Given the description of an element on the screen output the (x, y) to click on. 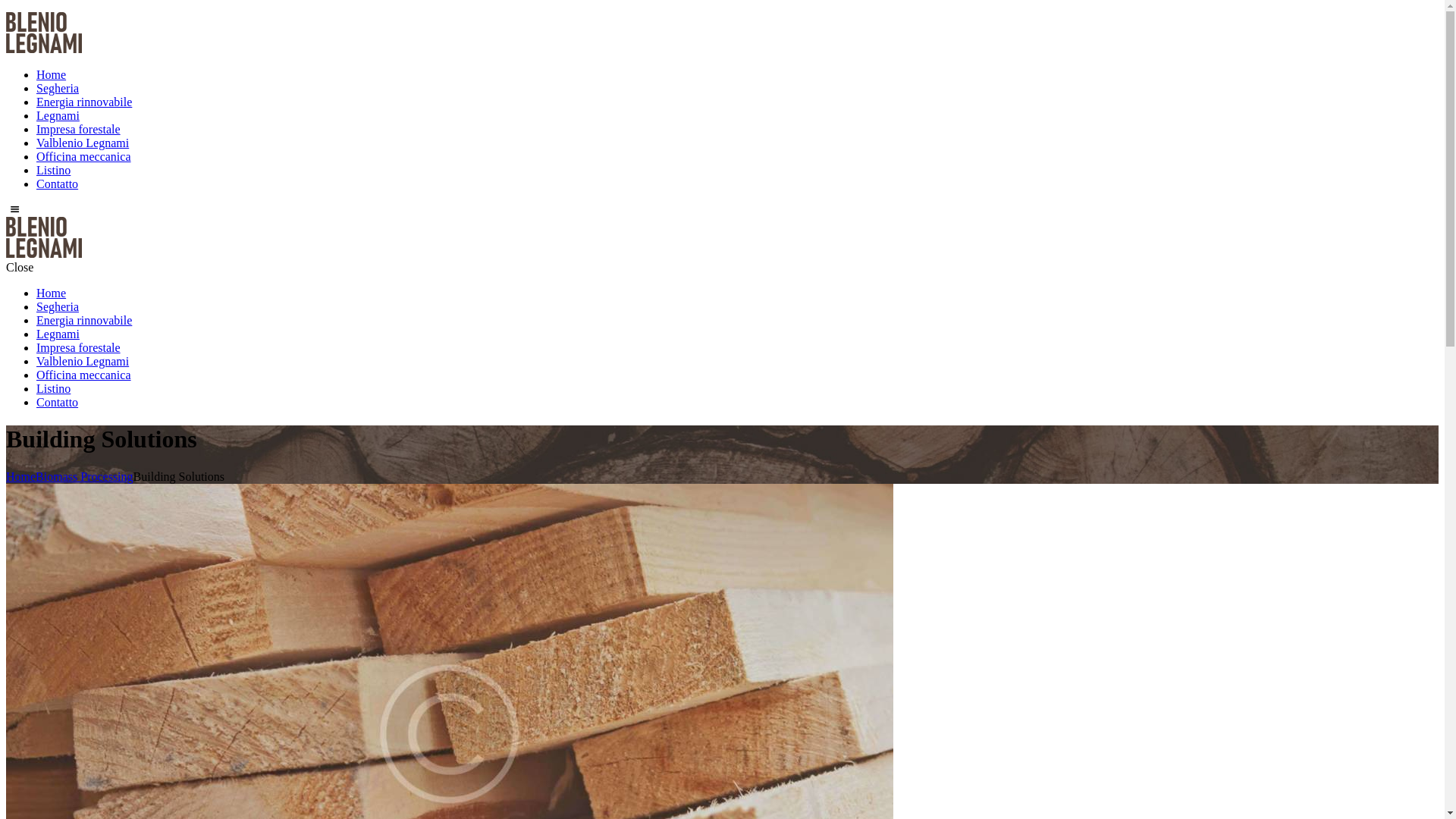
Energia rinnovabile Element type: text (83, 101)
Home Element type: text (50, 74)
Contatto Element type: text (57, 183)
Impresa forestale Element type: text (78, 347)
Segheria Element type: text (57, 306)
Listino Element type: text (53, 388)
Segheria Element type: text (57, 87)
Home Element type: text (20, 476)
Contatto Element type: text (57, 401)
Valblenio Legnami Element type: text (82, 360)
Listino Element type: text (53, 169)
Valblenio Legnami Element type: text (82, 142)
Biomass Processing Element type: text (83, 476)
Officina meccanica Element type: text (83, 156)
Officina meccanica Element type: text (83, 374)
Impresa forestale Element type: text (78, 128)
Legnami Element type: text (57, 115)
Energia rinnovabile Element type: text (83, 319)
Home Element type: text (50, 292)
Legnami Element type: text (57, 333)
